Given the description of an element on the screen output the (x, y) to click on. 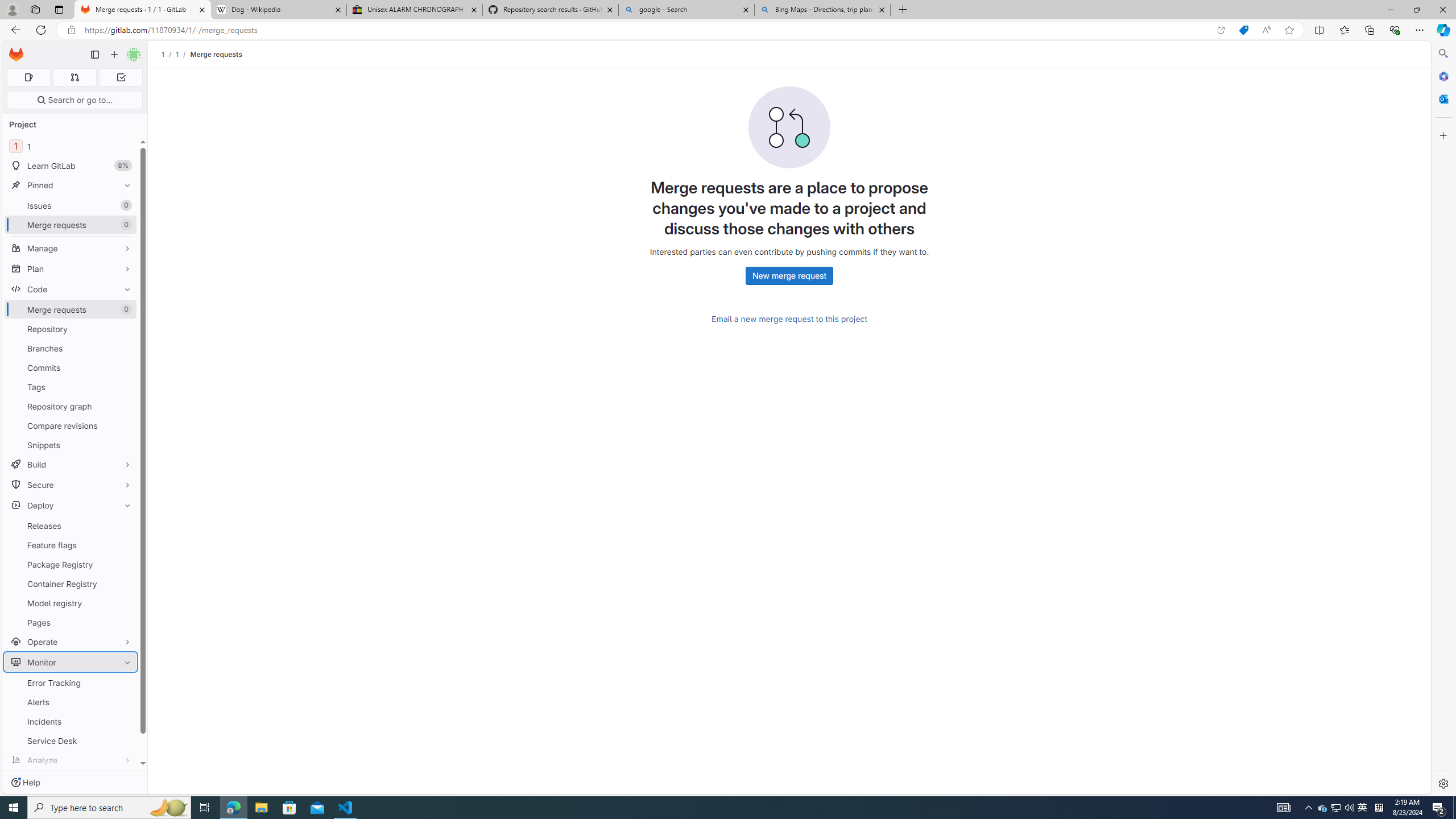
Tags (70, 386)
Pin Releases (124, 525)
Dog - Wikipedia (277, 9)
Alerts (70, 701)
Branches (70, 348)
Pin Branches (124, 348)
Pin Repository (124, 328)
